Given the description of an element on the screen output the (x, y) to click on. 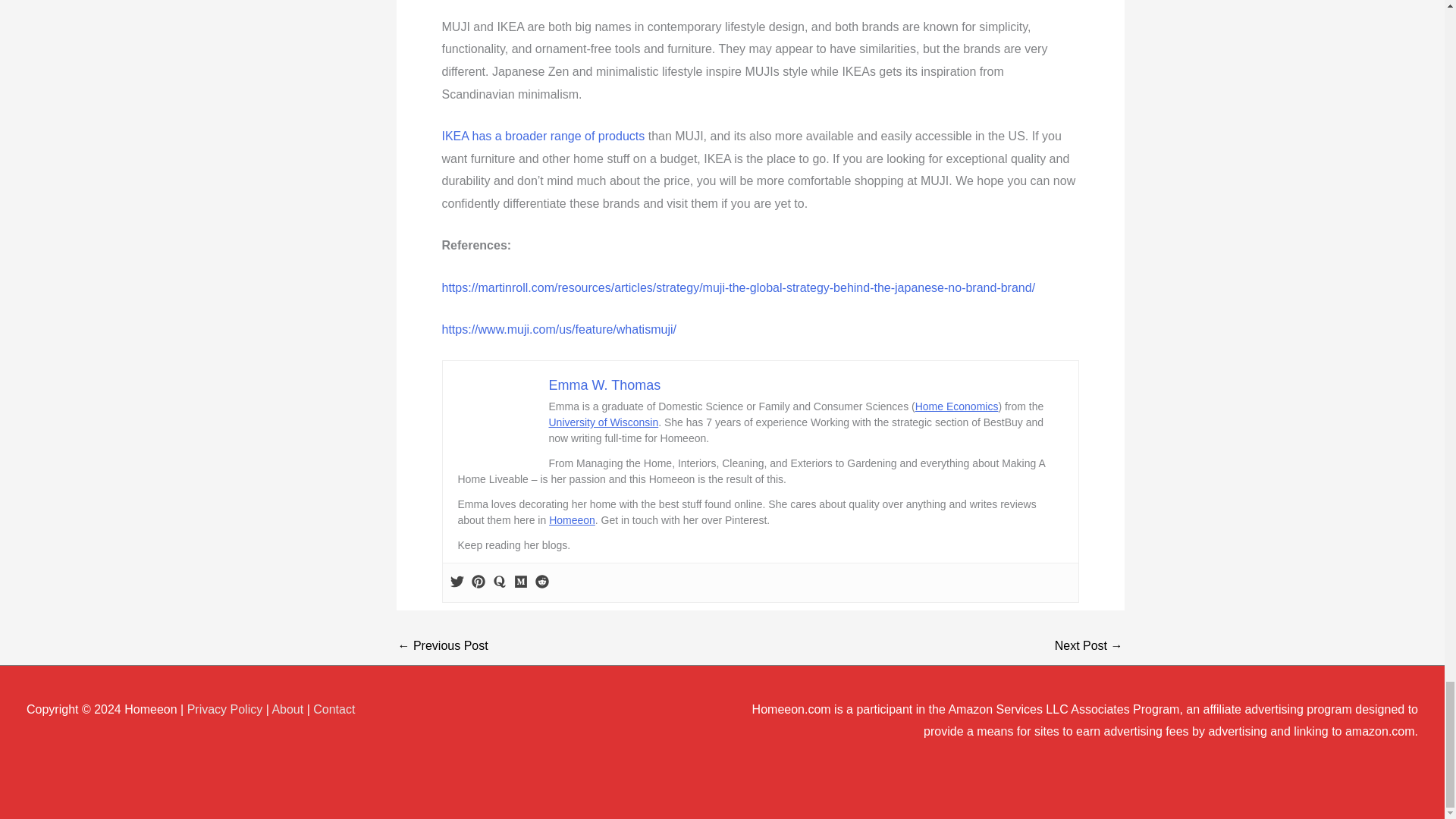
Homeeon (571, 520)
Emma W. Thomas (604, 385)
Privacy Policy (225, 708)
IKEA has a broader range of products (543, 135)
About (286, 708)
Where Can You Buy Replacement Parts for Ashley's Furniture? (442, 645)
Home Economics (956, 406)
What Colors Go Well With Cherry Wood Furniture? (1088, 645)
University of Wisconsin (603, 422)
Contact (334, 708)
